Given the description of an element on the screen output the (x, y) to click on. 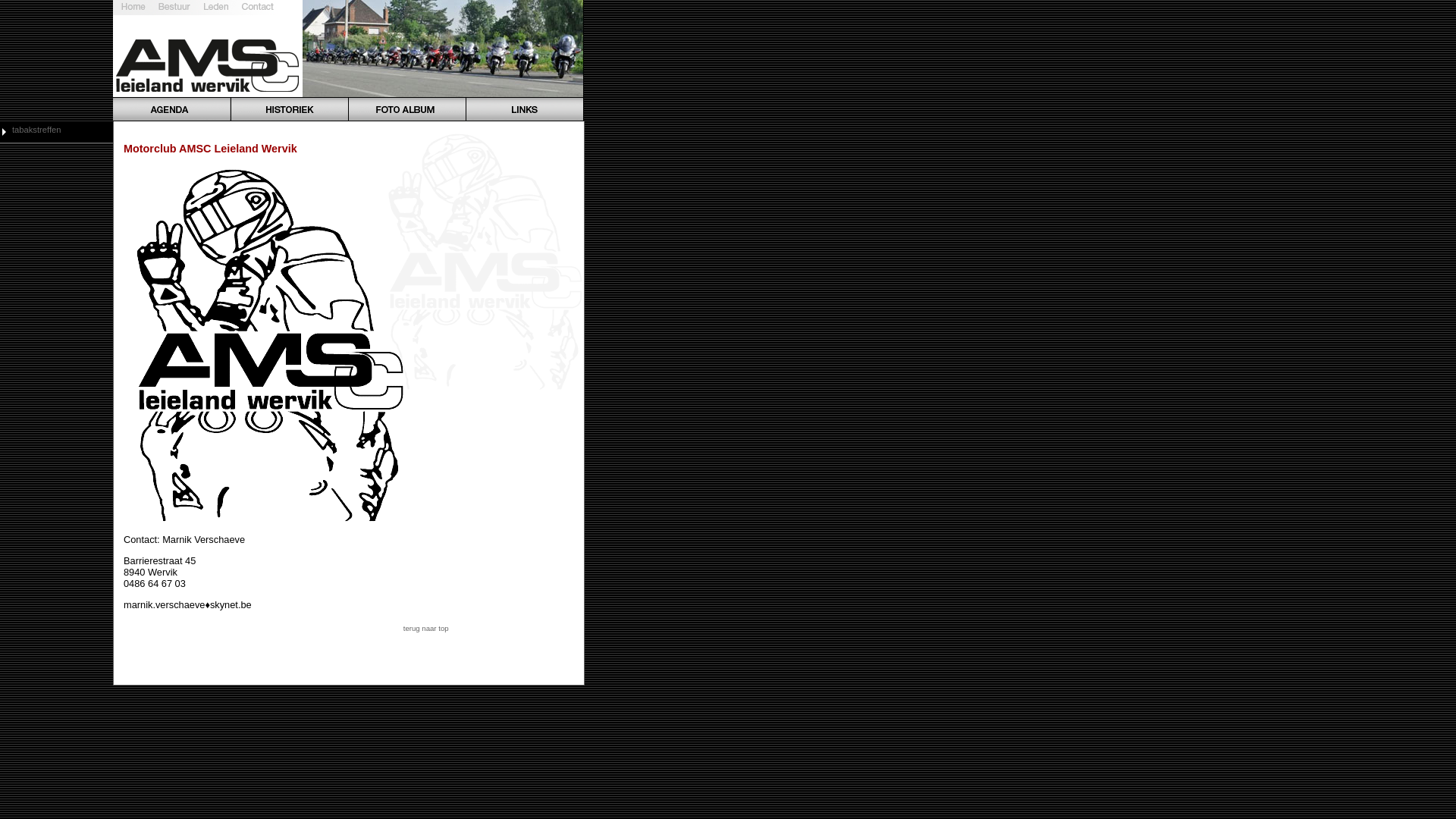
knop CURSISTEN Element type: hover (216, 7)
knop LINKS Element type: hover (524, 108)
terug naar top Element type: text (425, 628)
tabakstreffen Element type: text (36, 129)
knop AGENDA Element type: hover (171, 108)
knop OVER ONS Element type: hover (174, 7)
knop FOTO ALBUM Element type: hover (406, 108)
knop HOME Element type: hover (132, 7)
knop HISTORIEK Element type: hover (289, 108)
knop CONTACT Element type: hover (258, 7)
